Given the description of an element on the screen output the (x, y) to click on. 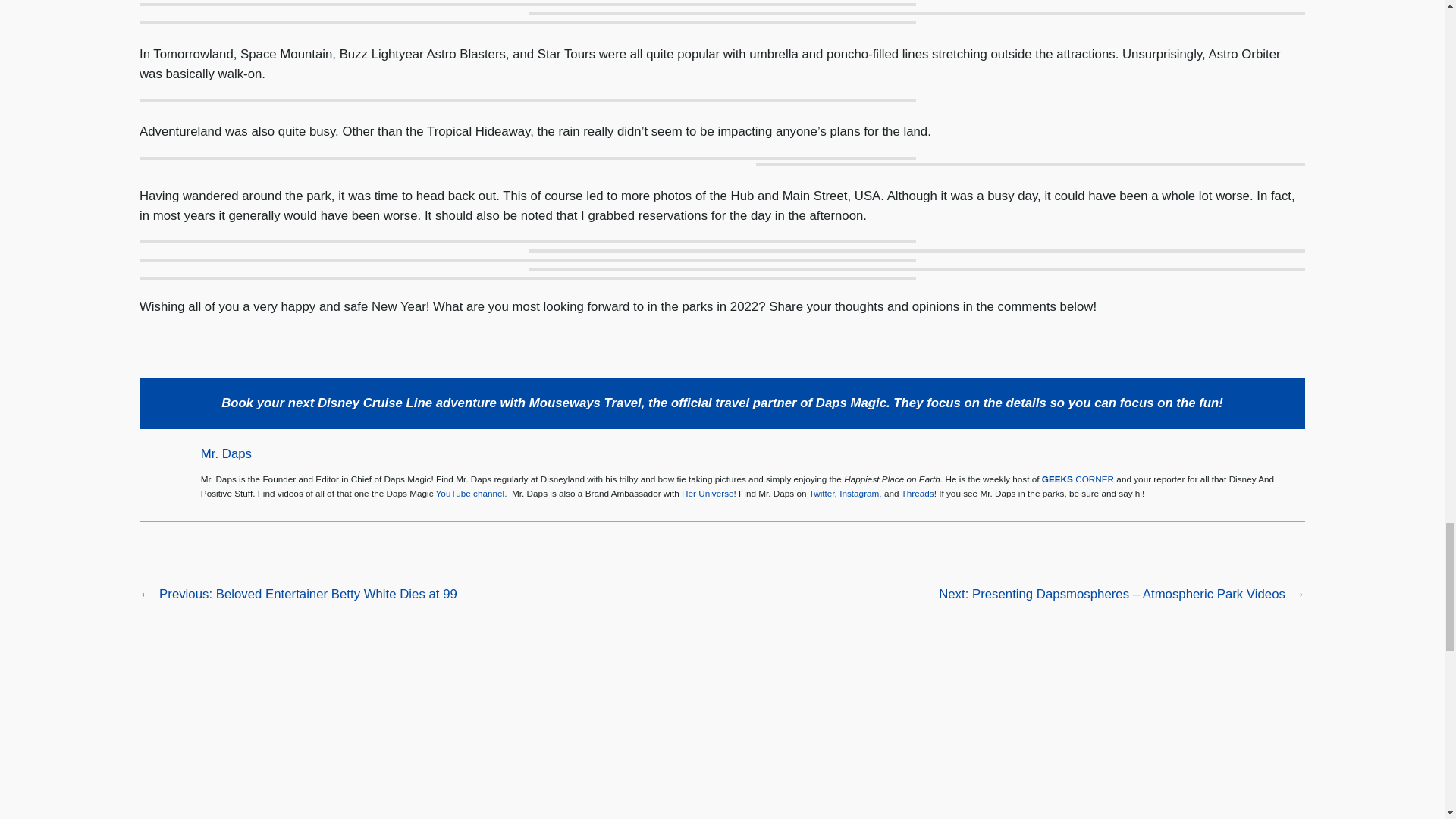
GEEKS CORNER (1077, 479)
Previous: Beloved Entertainer Betty White Dies at 99 (307, 594)
Her Universe (707, 492)
Mr. Daps (225, 453)
Rain Returns to the Disneyland Resort (337, 749)
Instagram, (861, 492)
Threads (917, 492)
YouTube channel. (470, 492)
Twitter, (823, 492)
